Given the description of an element on the screen output the (x, y) to click on. 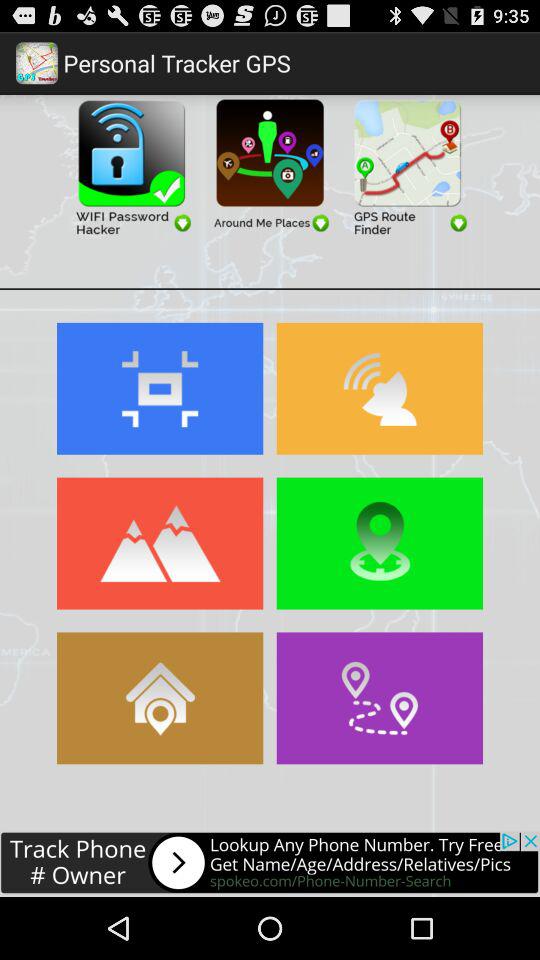
view places around me (269, 165)
